Given the description of an element on the screen output the (x, y) to click on. 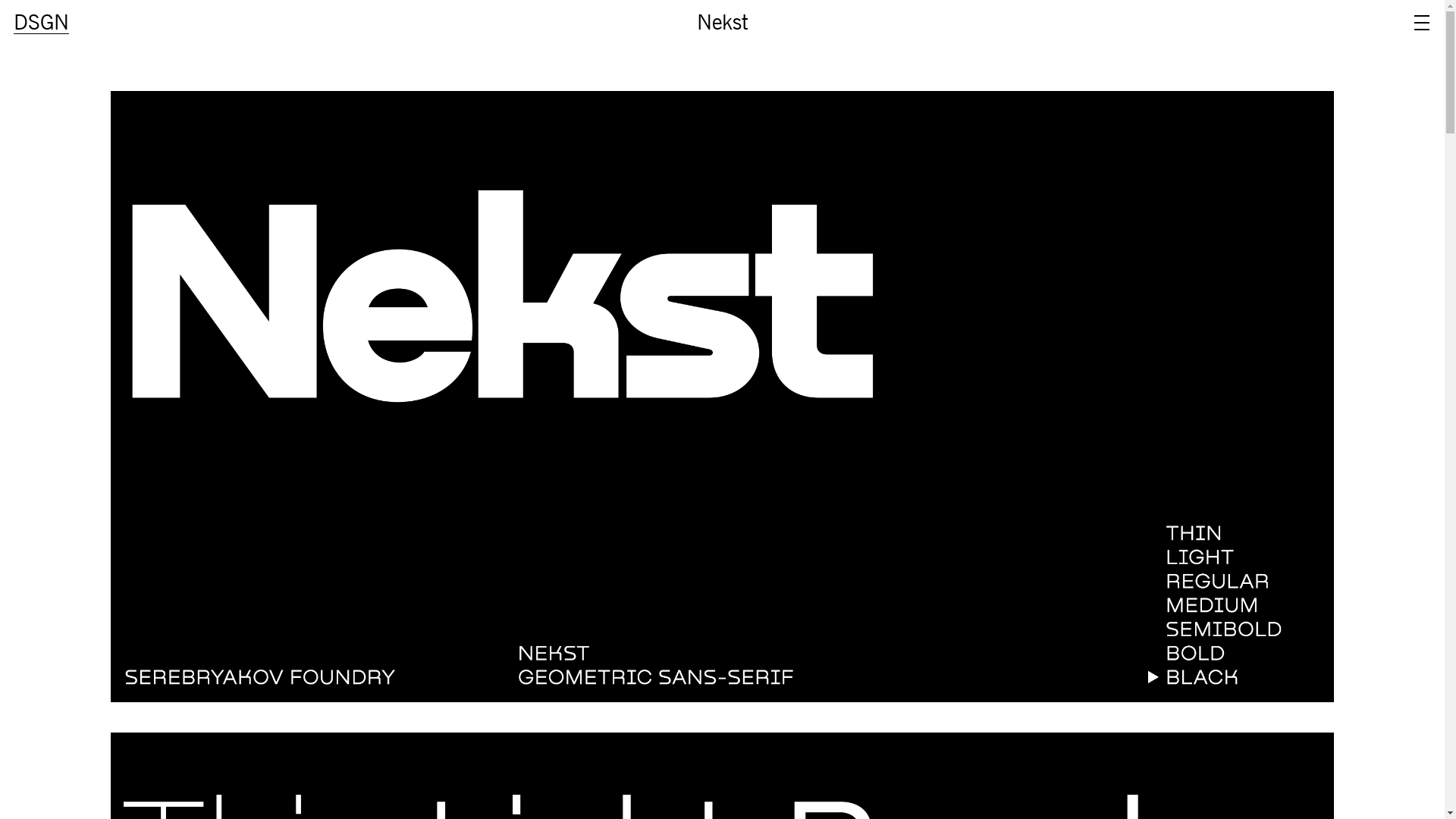
DSGN Element type: text (42, 22)
